Given the description of an element on the screen output the (x, y) to click on. 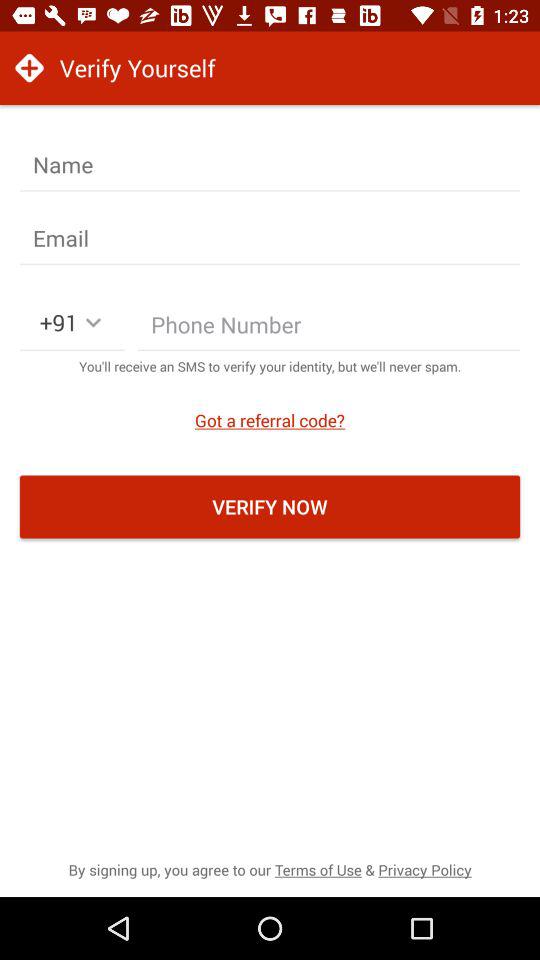
launch the icon above the verify now icon (269, 419)
